Given the description of an element on the screen output the (x, y) to click on. 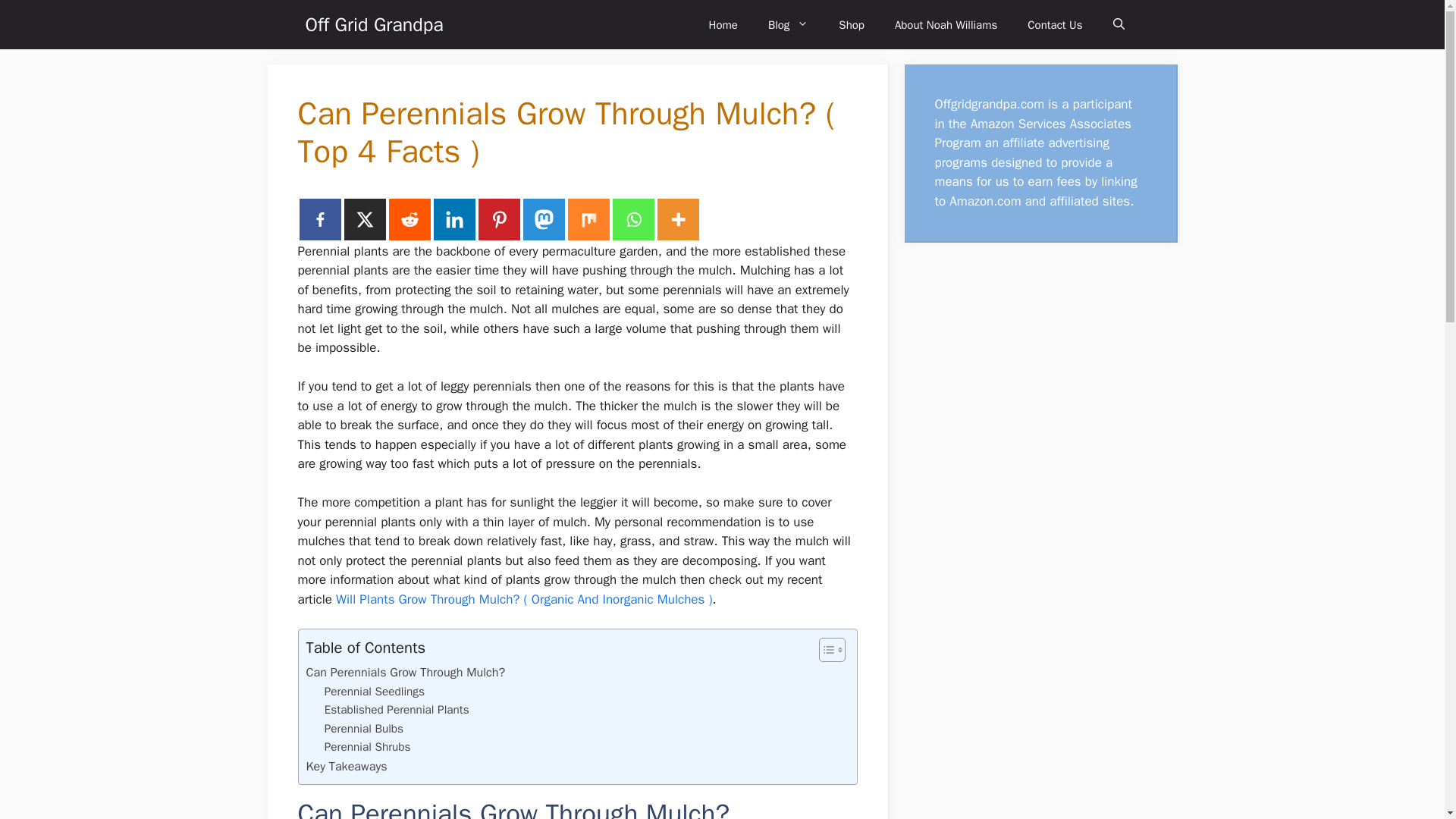
Linkedin (454, 219)
Blog (788, 23)
Established Perennial Plants (396, 710)
Shop (851, 23)
More (677, 219)
About Noah Williams (945, 23)
Perennial Shrubs (367, 746)
Perennial Shrubs (367, 746)
Perennial Seedlings (374, 691)
Home (723, 23)
Can Perennials Grow Through Mulch? (405, 672)
Off Grid Grandpa (373, 24)
Reddit (408, 219)
Perennial Bulbs (363, 728)
Facebook (319, 219)
